Given the description of an element on the screen output the (x, y) to click on. 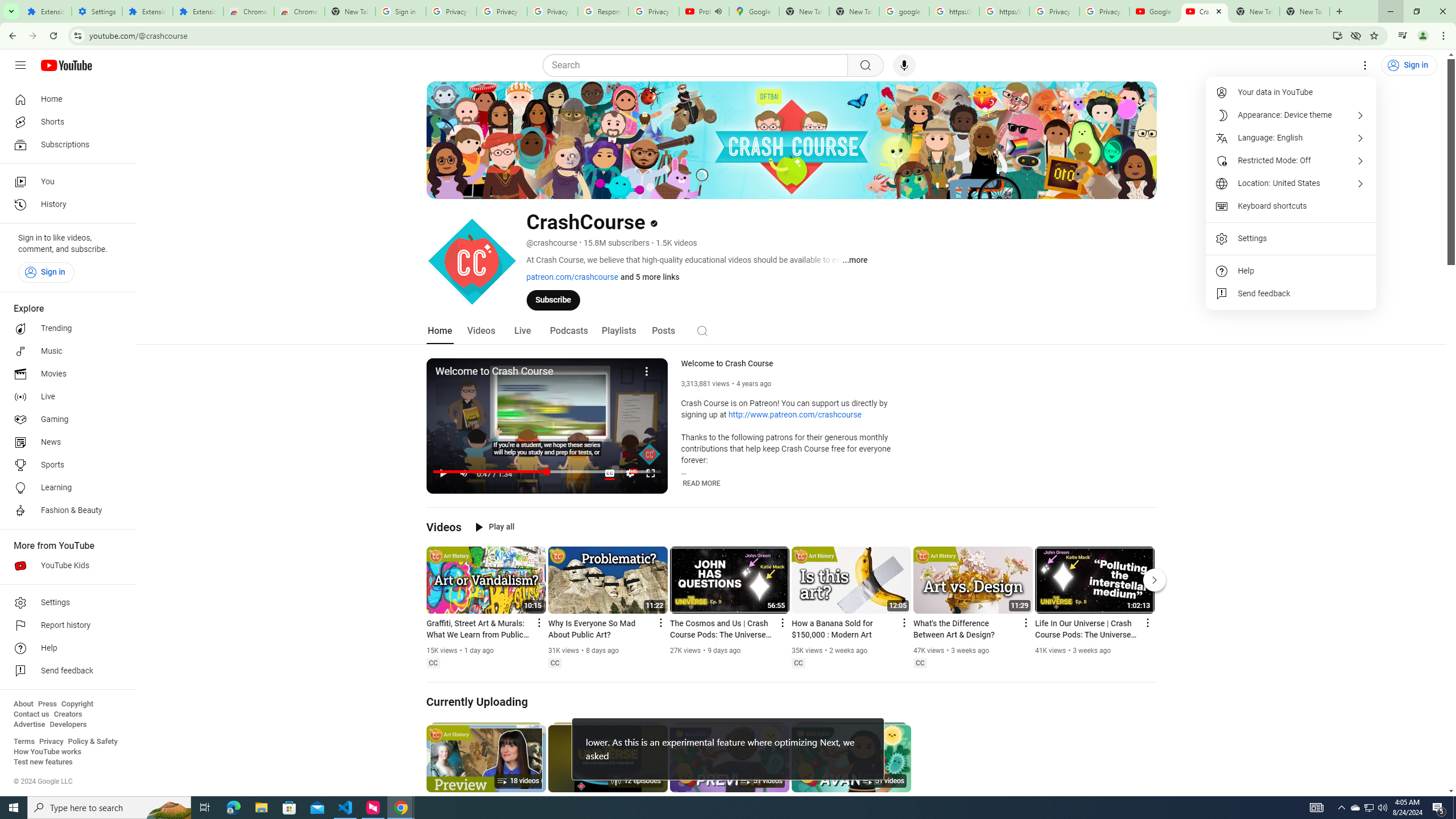
New Tab (1304, 11)
Videos (443, 526)
Google Maps (753, 11)
Fashion & Beauty (64, 510)
patreon.com/crashcourse (571, 276)
Extensions (46, 11)
YouTube Kids (64, 565)
Keyboard shortcuts (1291, 205)
Live (64, 396)
Podcasts (568, 330)
